Given the description of an element on the screen output the (x, y) to click on. 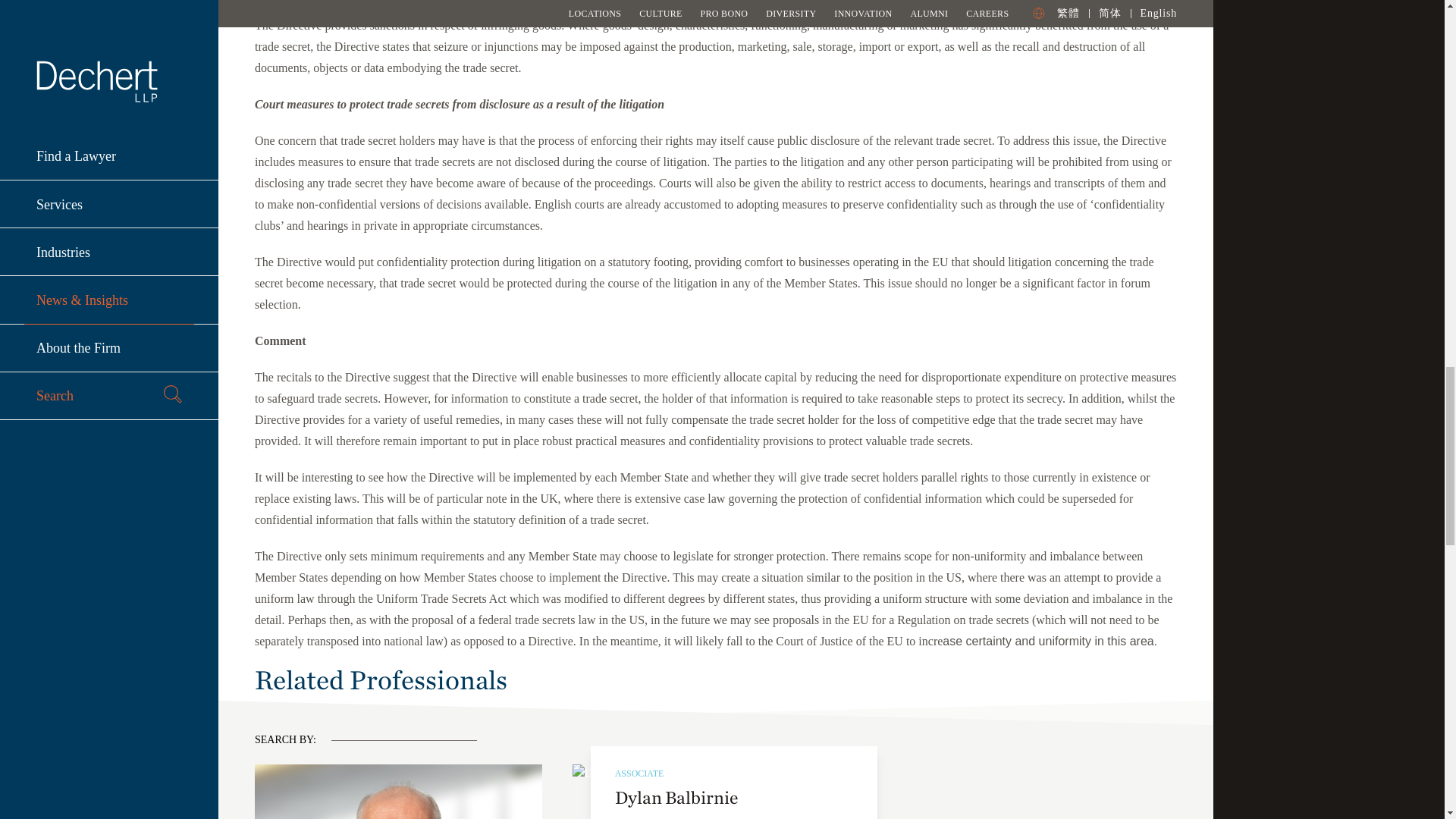
Dylan Balbirnie (716, 773)
Paul Kavanagh (397, 791)
